Given the description of an element on the screen output the (x, y) to click on. 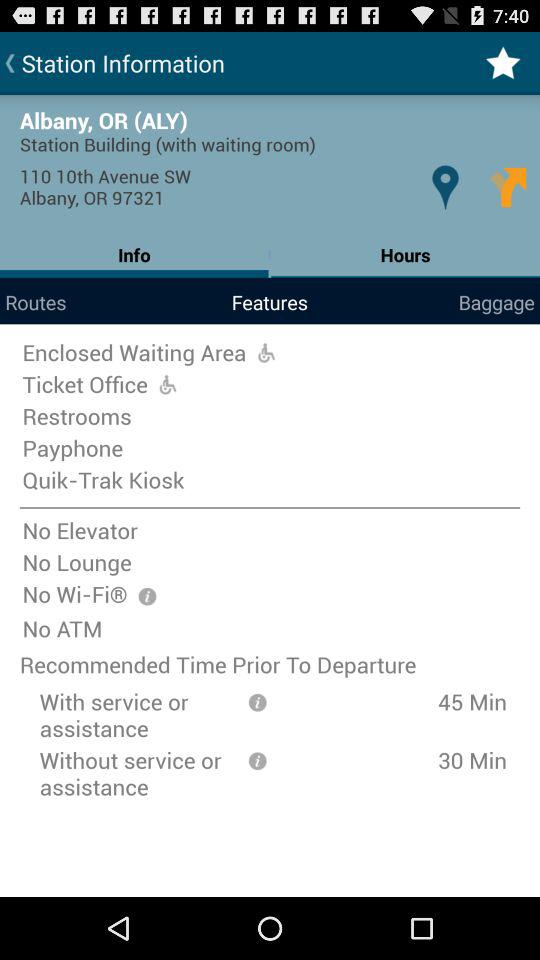
turn on icon below station building with item (508, 186)
